Given the description of an element on the screen output the (x, y) to click on. 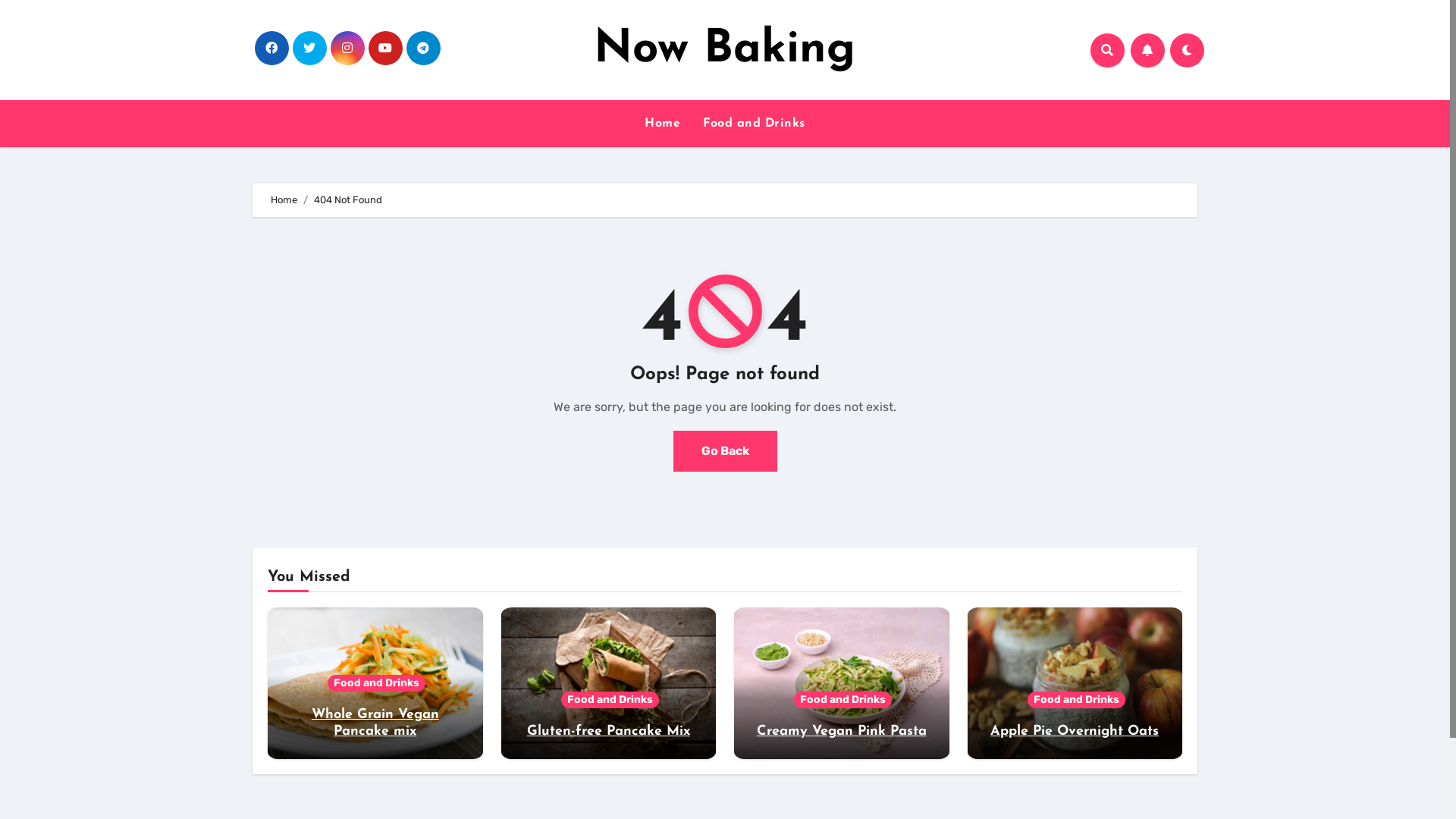
Gluten-free Pancake Mix Element type: text (608, 731)
Home Element type: text (283, 199)
Apple Pie Overnight Oats Element type: text (1074, 731)
Home Element type: text (662, 123)
Creamy Vegan Pink Pasta Element type: text (841, 731)
Food and Drinks Element type: text (1076, 699)
Now Baking Element type: text (724, 49)
Go Back Element type: text (725, 450)
Whole Grain Vegan Pancake mix Element type: text (375, 722)
Food and Drinks Element type: text (376, 682)
Food and Drinks Element type: text (609, 699)
Food and Drinks Element type: text (753, 123)
Food and Drinks Element type: text (842, 699)
